Given the description of an element on the screen output the (x, y) to click on. 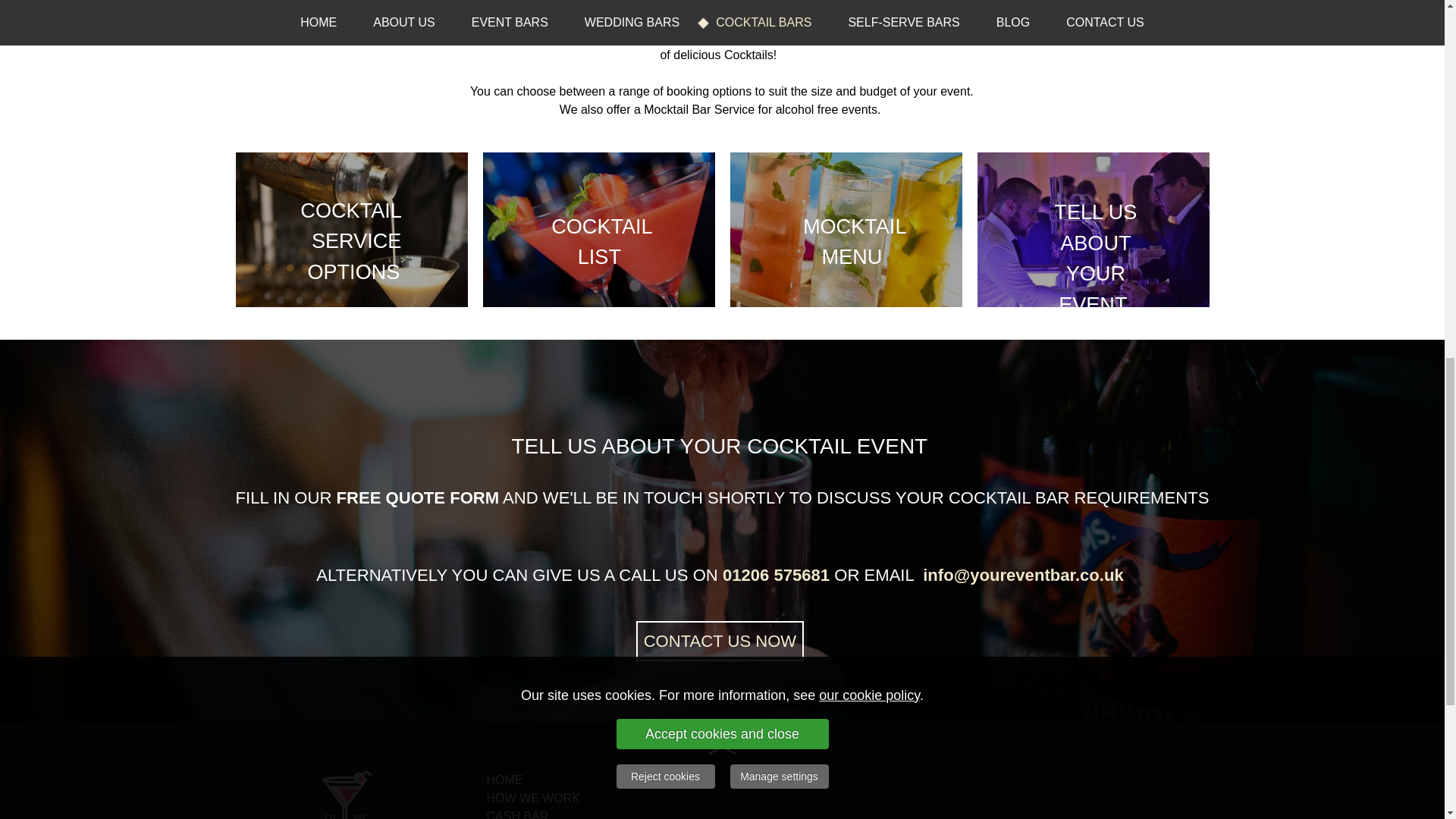
FREE QUOTE FORM (417, 499)
CASH BAR (517, 814)
HOME (504, 779)
HOW WE WORK (533, 797)
CONTACT US NOW (720, 640)
